Given the description of an element on the screen output the (x, y) to click on. 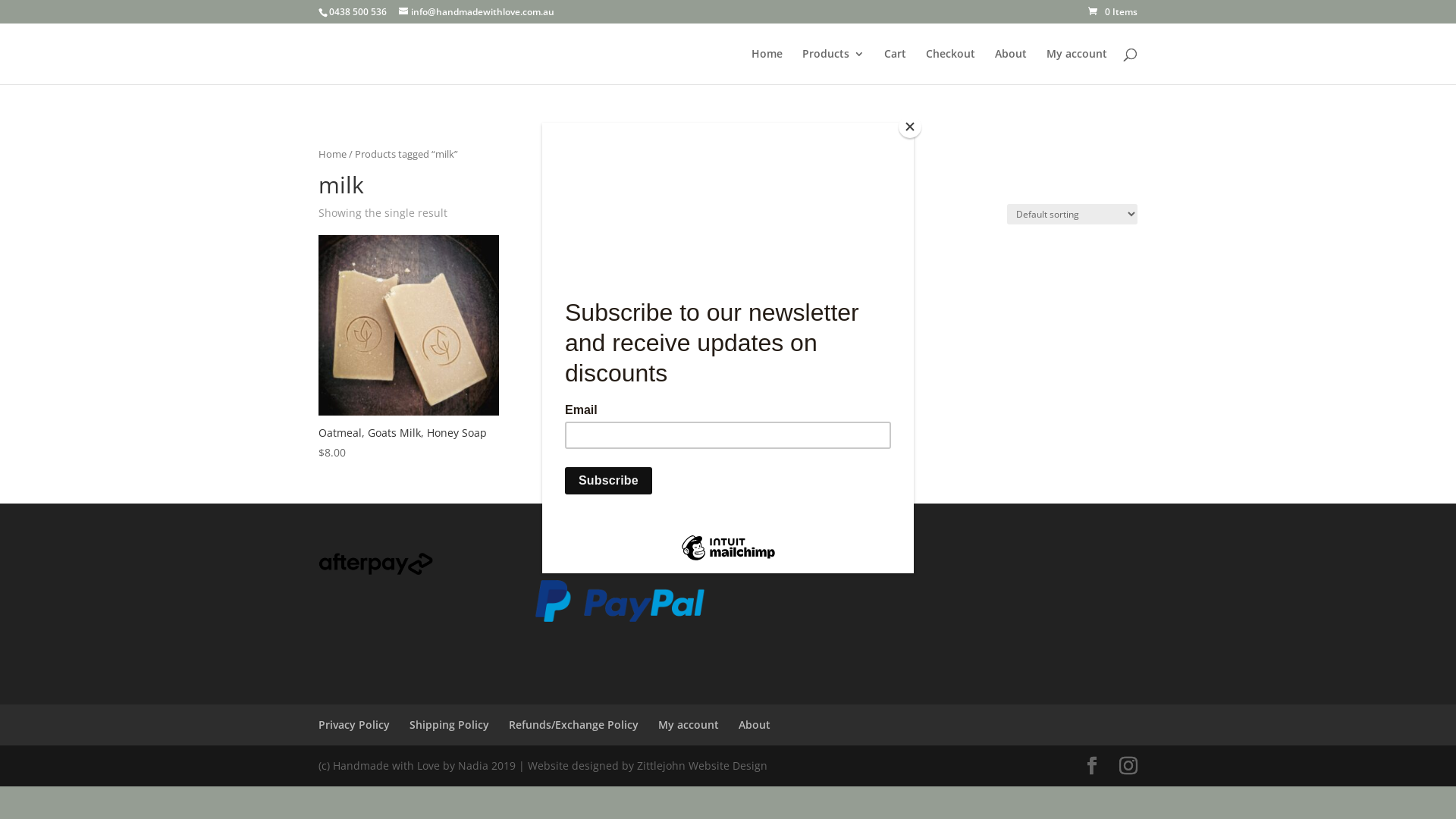
My account Element type: text (1076, 66)
Products Element type: text (833, 66)
Home Element type: text (766, 66)
Checkout Element type: text (950, 66)
About Element type: text (1010, 66)
Privacy Policy Element type: text (353, 724)
My account Element type: text (688, 724)
Home Element type: text (332, 153)
info@handmadewithlove.com.au Element type: text (476, 11)
Oatmeal, Goats Milk, Honey Soap
$8.00 Element type: text (408, 348)
Shipping Policy Element type: text (449, 724)
0 Items Element type: text (1112, 11)
Refunds/Exchange Policy Element type: text (573, 724)
Cart Element type: text (895, 66)
About Element type: text (754, 724)
